Given the description of an element on the screen output the (x, y) to click on. 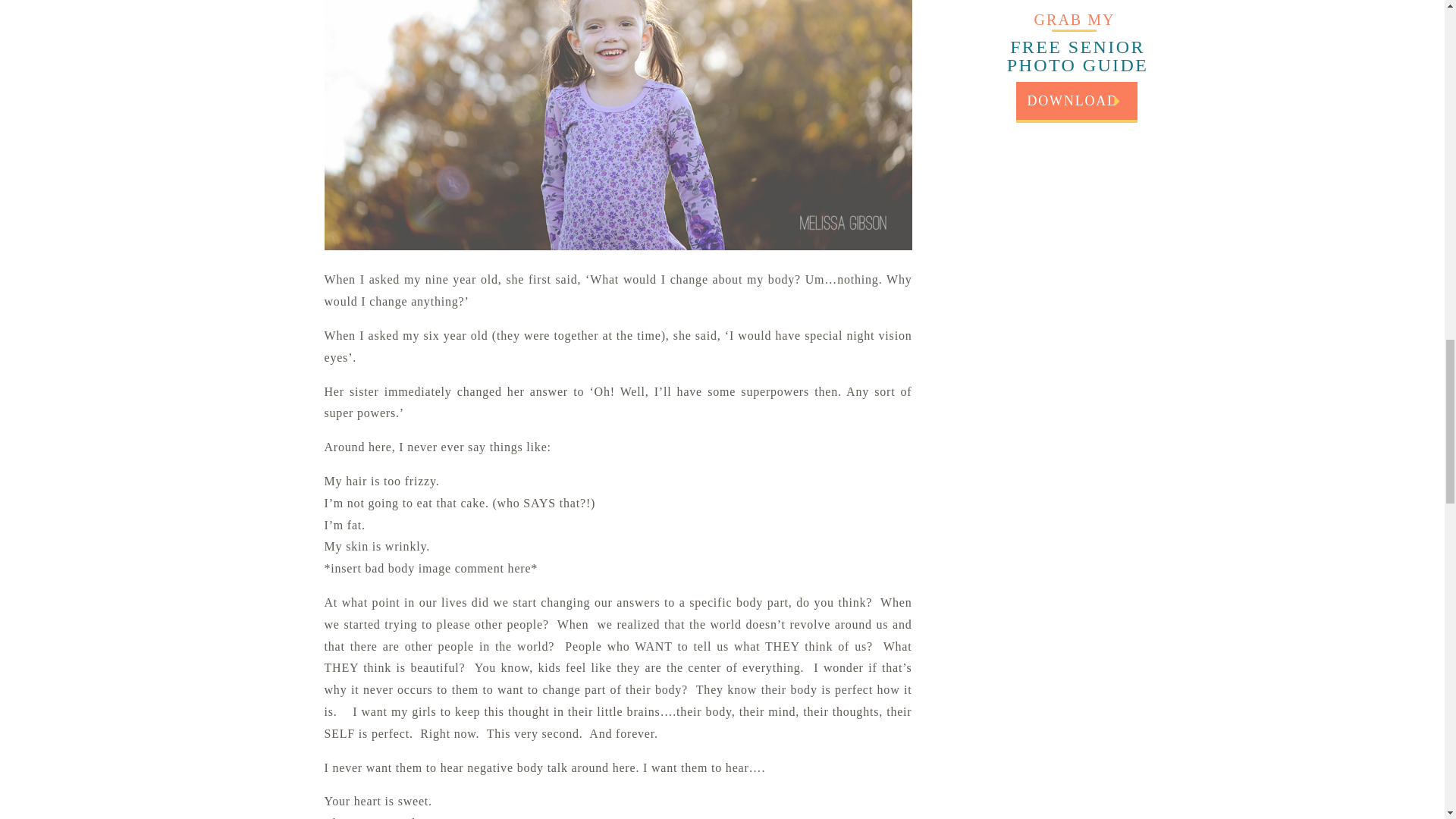
GRAB MY (1073, 16)
